Given the description of an element on the screen output the (x, y) to click on. 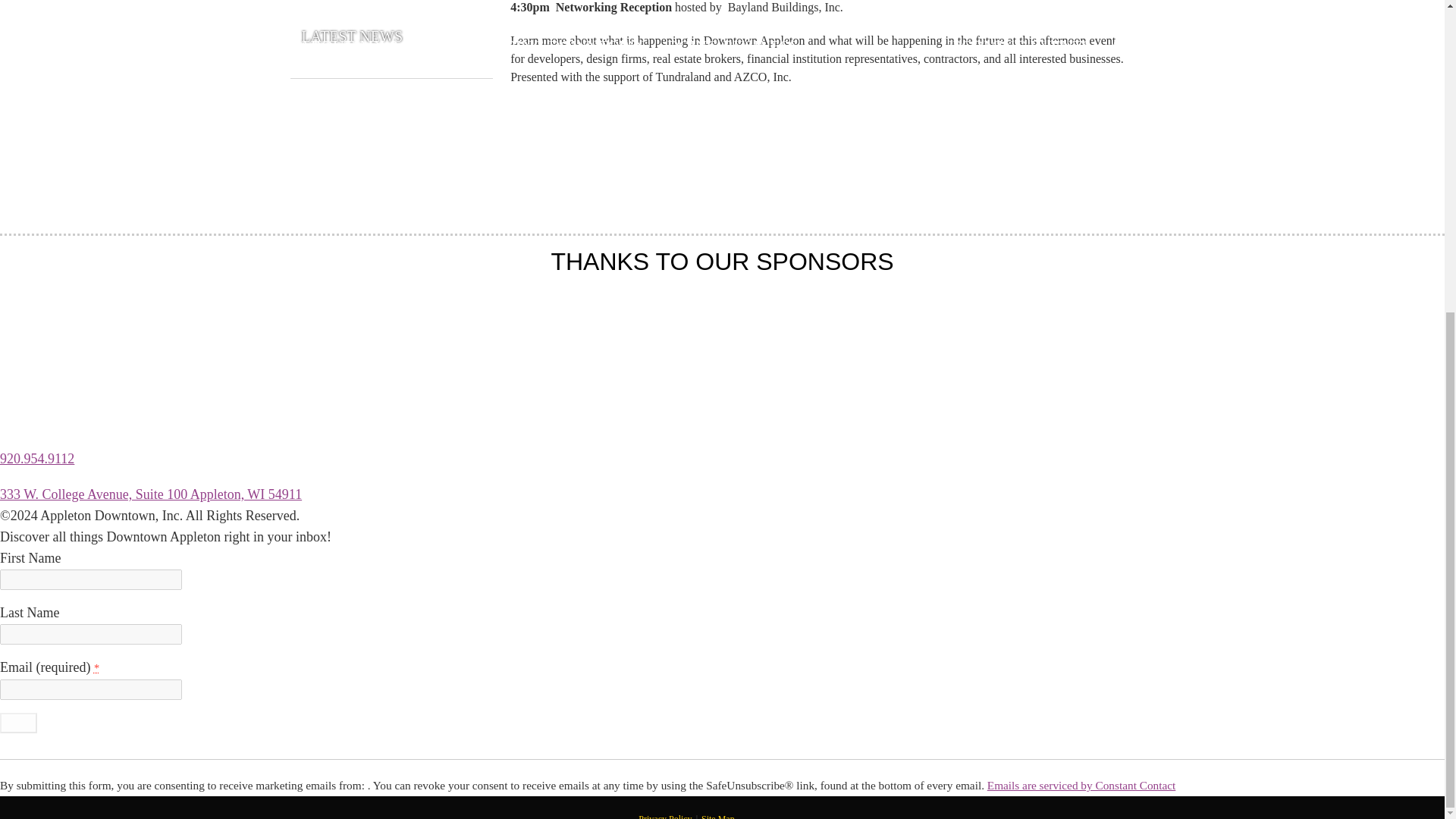
GO! (18, 722)
